Given the description of an element on the screen output the (x, y) to click on. 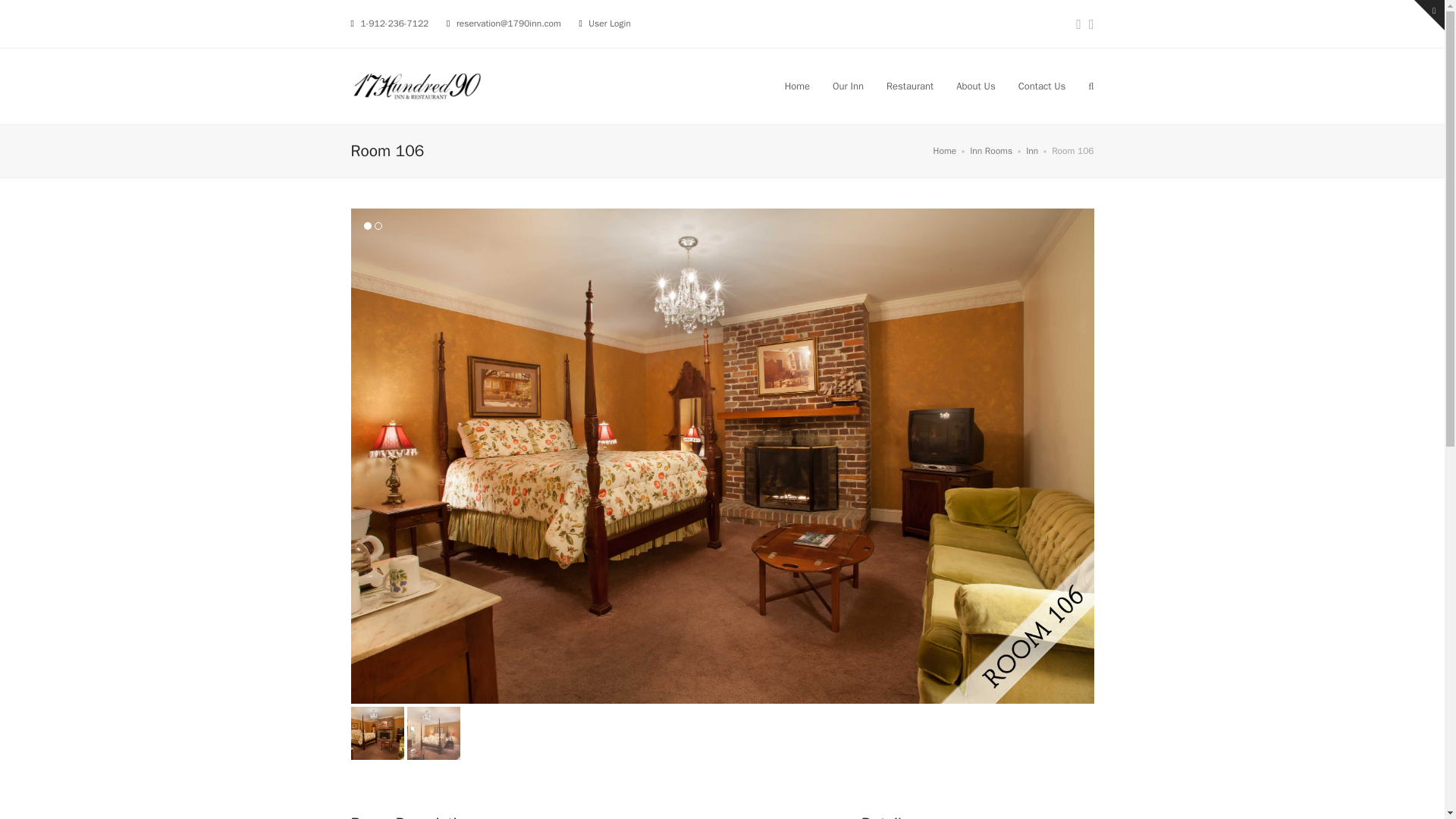
Contact Us (1042, 86)
Inn Rooms (990, 150)
Inn (1032, 150)
Home (944, 150)
Restaurant (909, 86)
User Login (609, 23)
